Given the description of an element on the screen output the (x, y) to click on. 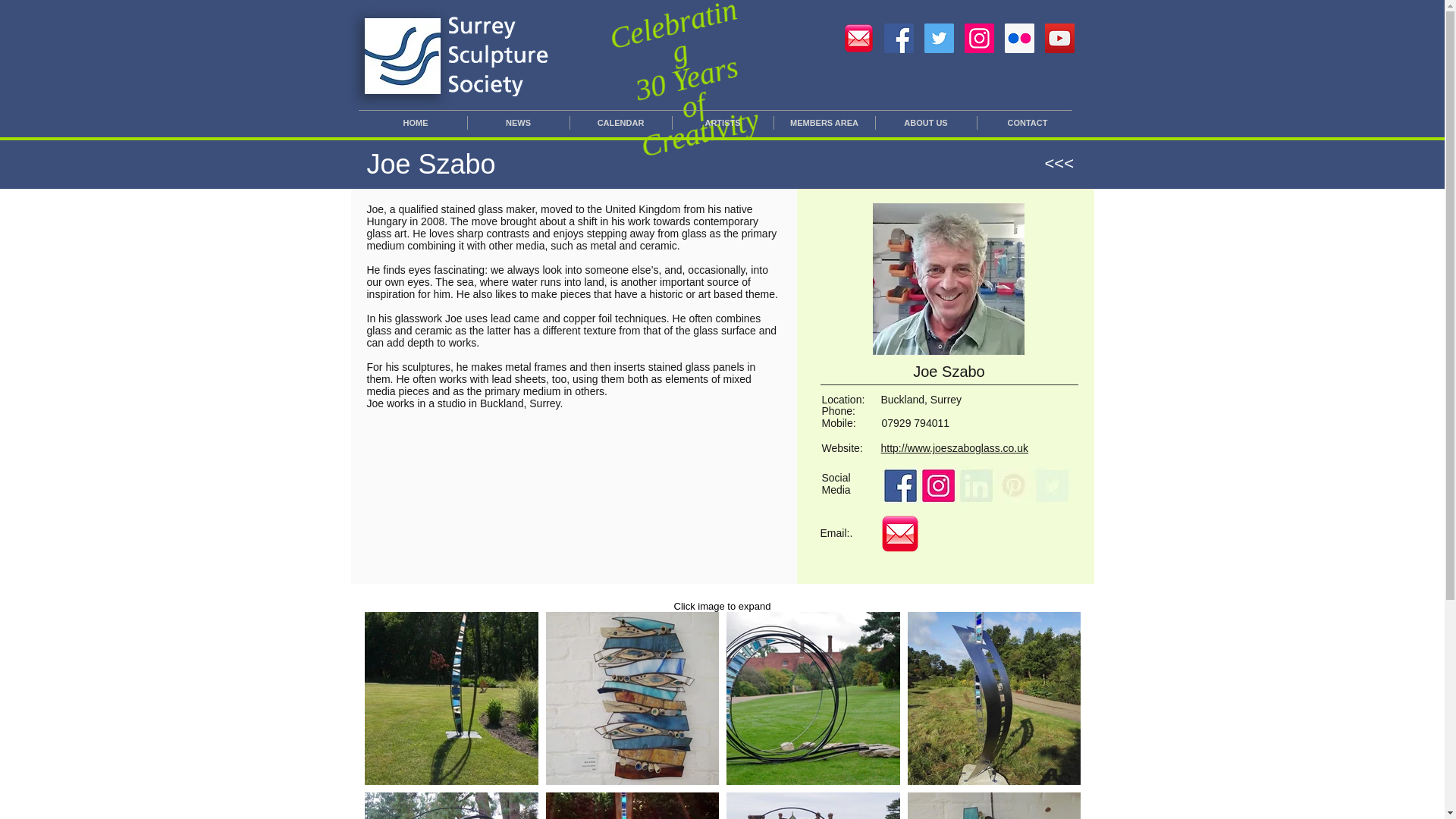
Joe Szabo (899, 485)
CALENDAR (620, 122)
ABOUT US (925, 122)
NEWS (518, 122)
Joe Szabo (899, 533)
MEMBERS AREA (824, 122)
Joe Szabo (947, 278)
HOME (414, 122)
Joe Szabo (937, 485)
ARTISTS (722, 122)
CONTACT (1026, 122)
